Given the description of an element on the screen output the (x, y) to click on. 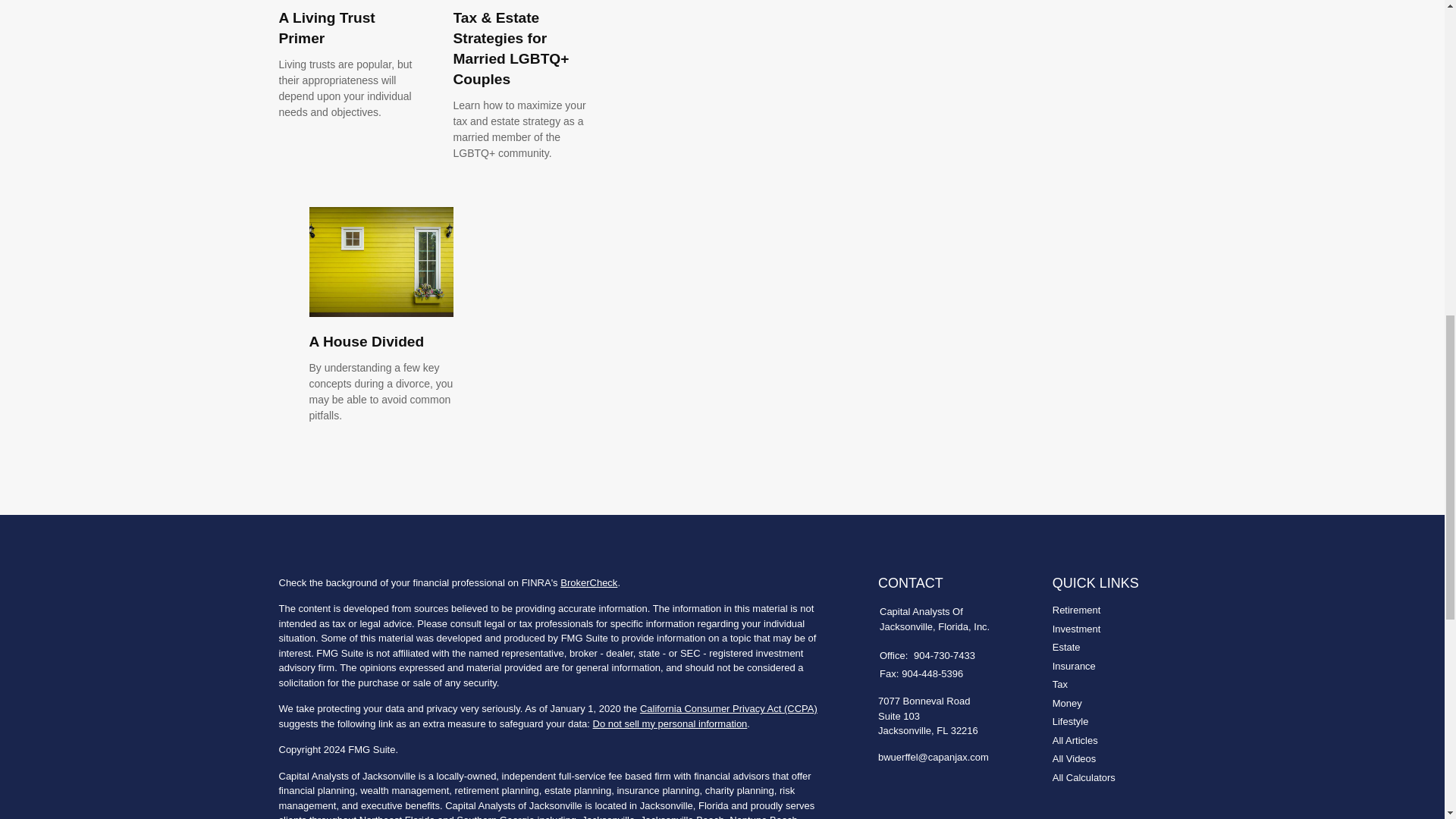
BrokerCheck (588, 582)
A House Divided (366, 341)
A Living Trust Primer (327, 27)
Do not sell my personal information (670, 723)
